Given the description of an element on the screen output the (x, y) to click on. 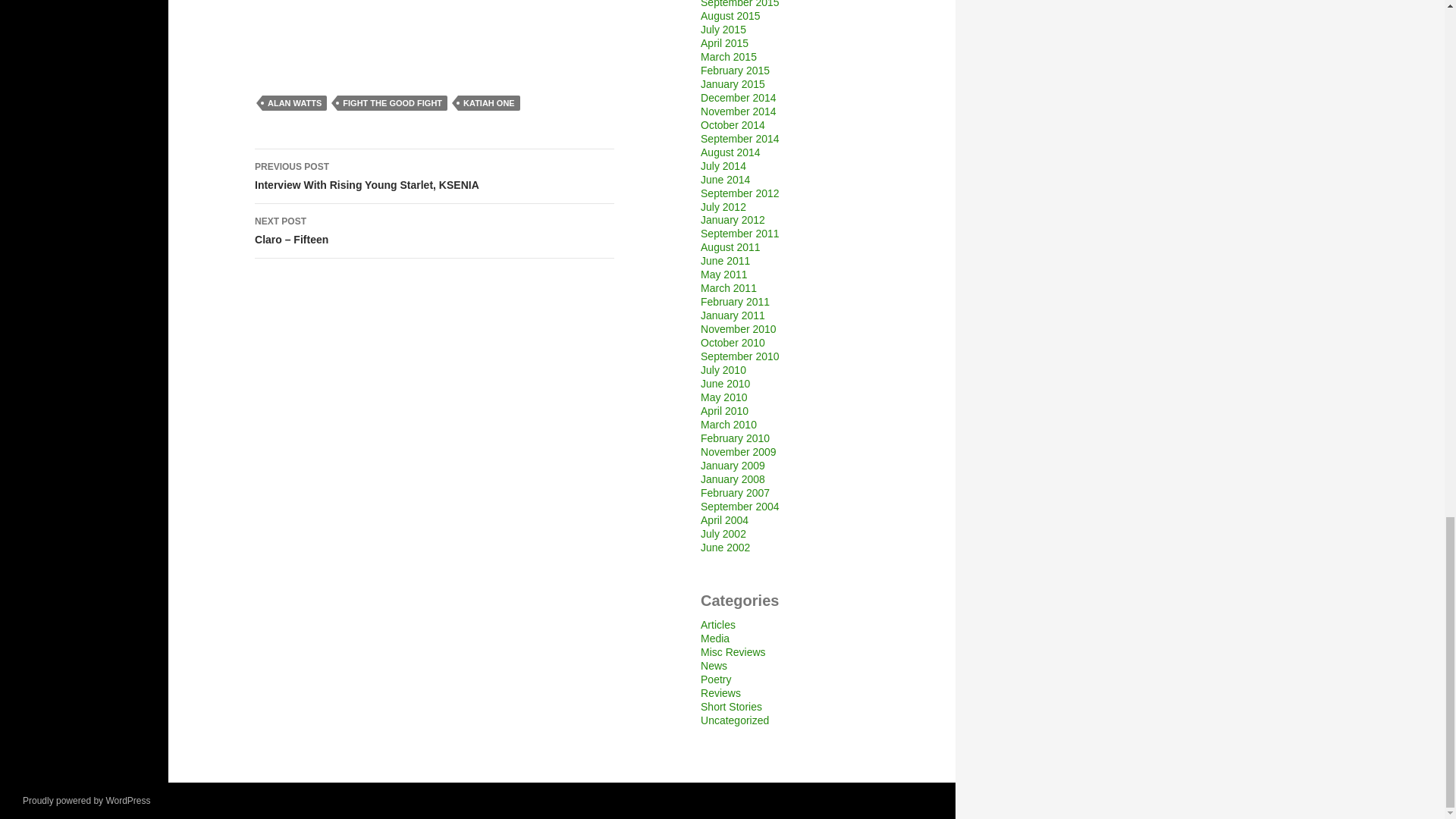
ALAN WATTS (294, 102)
Spotify Embed: Fight The Good Fight (434, 26)
FIGHT THE GOOD FIGHT (434, 176)
KATIAH ONE (391, 102)
